Given the description of an element on the screen output the (x, y) to click on. 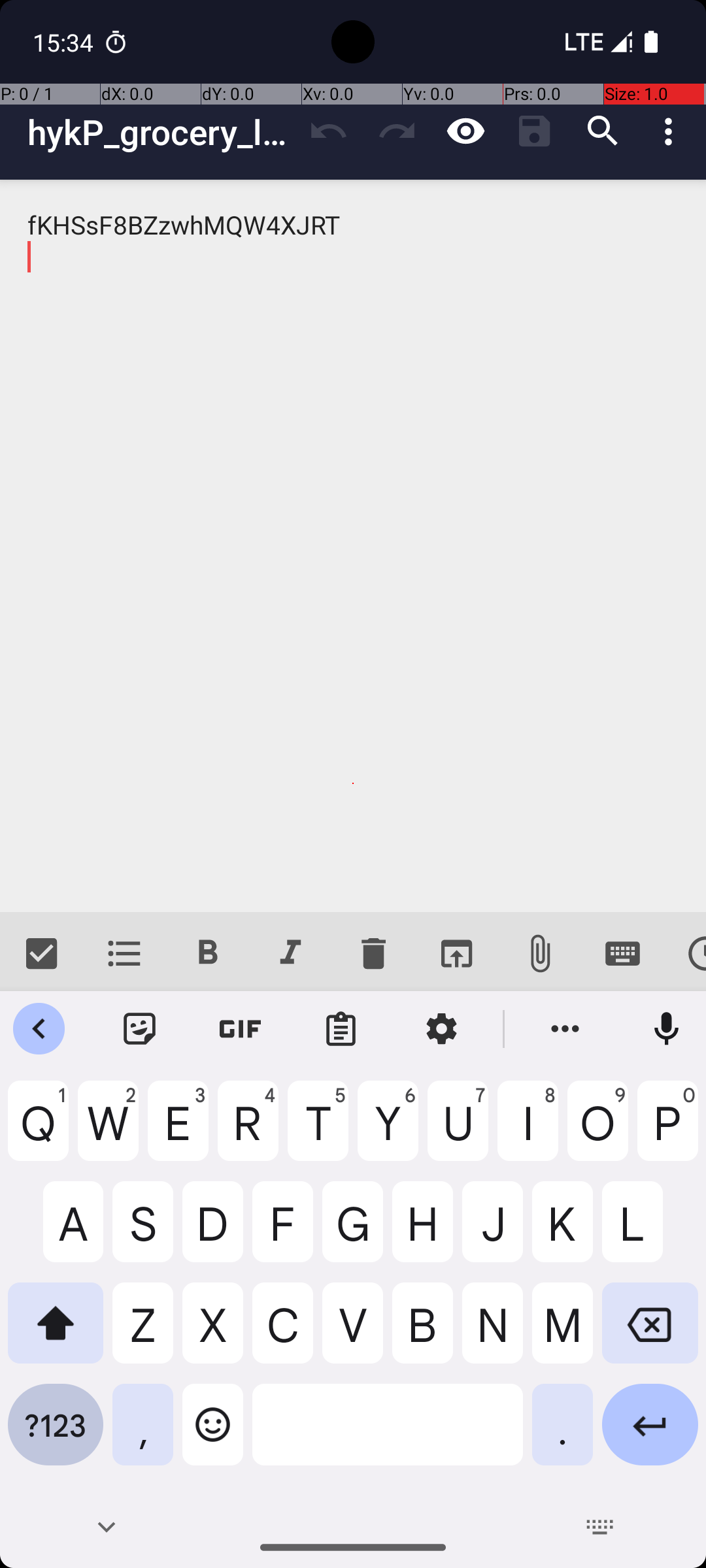
hykP_grocery_list_weekly Element type: android.widget.TextView (160, 131)
fKHSsF8BZzwhMQW4XJRT
 Element type: android.widget.EditText (353, 545)
